Given the description of an element on the screen output the (x, y) to click on. 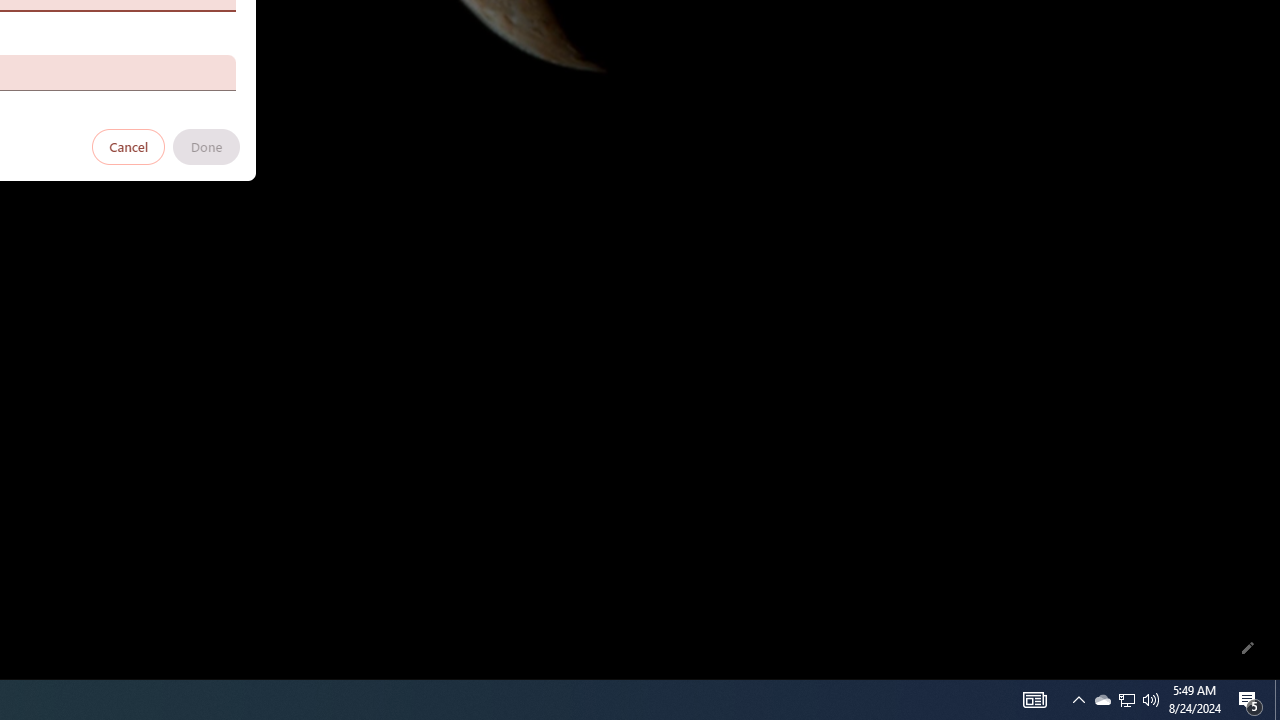
Done (206, 146)
Cancel (129, 146)
